Given the description of an element on the screen output the (x, y) to click on. 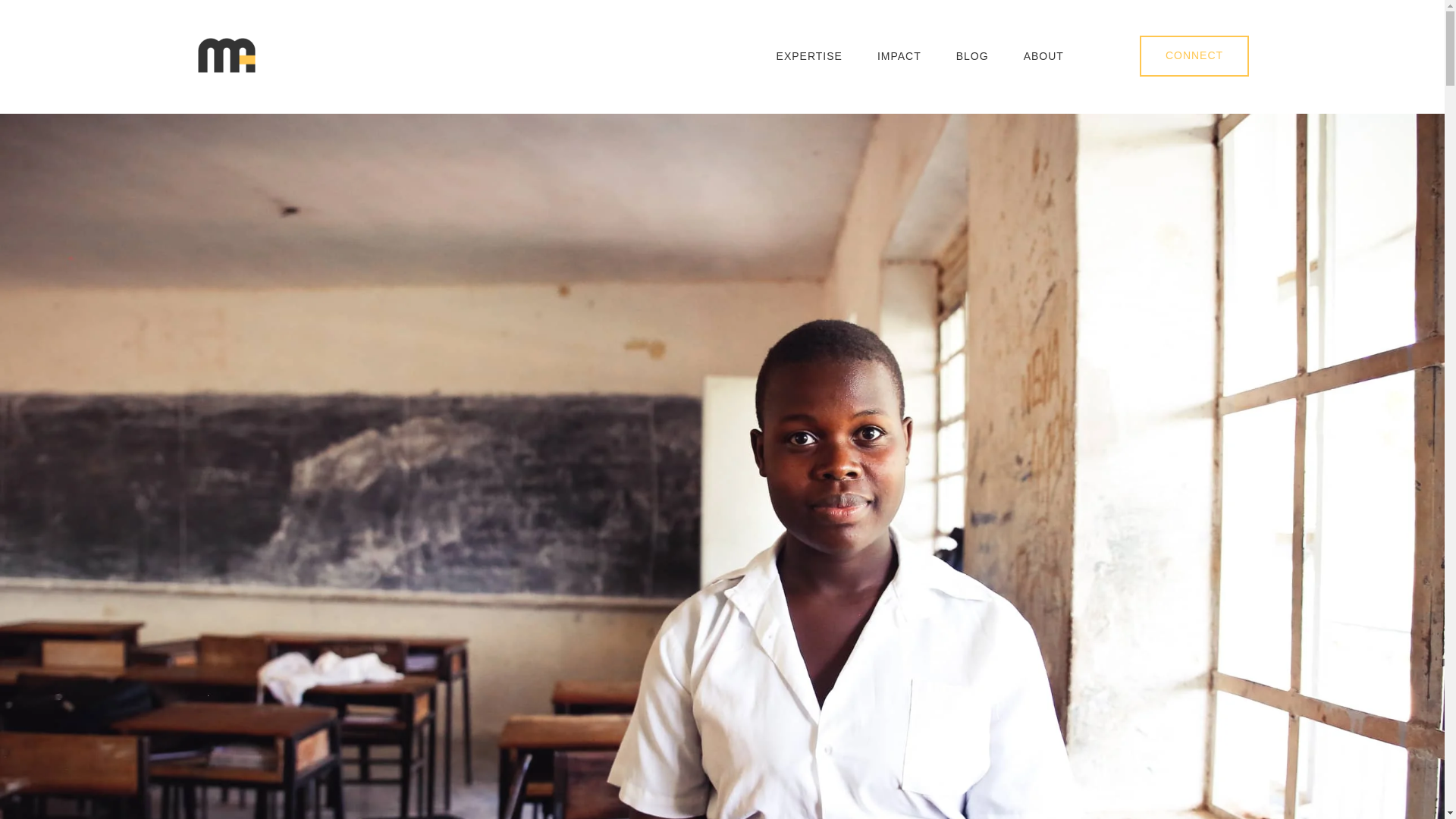
ABOUT (1043, 58)
IMPACT (899, 58)
BLOG (972, 58)
MIGHTY-ALLY-logomark-black-gold (225, 55)
CONNECT (1194, 56)
EXPERTISE (809, 58)
